Given the description of an element on the screen output the (x, y) to click on. 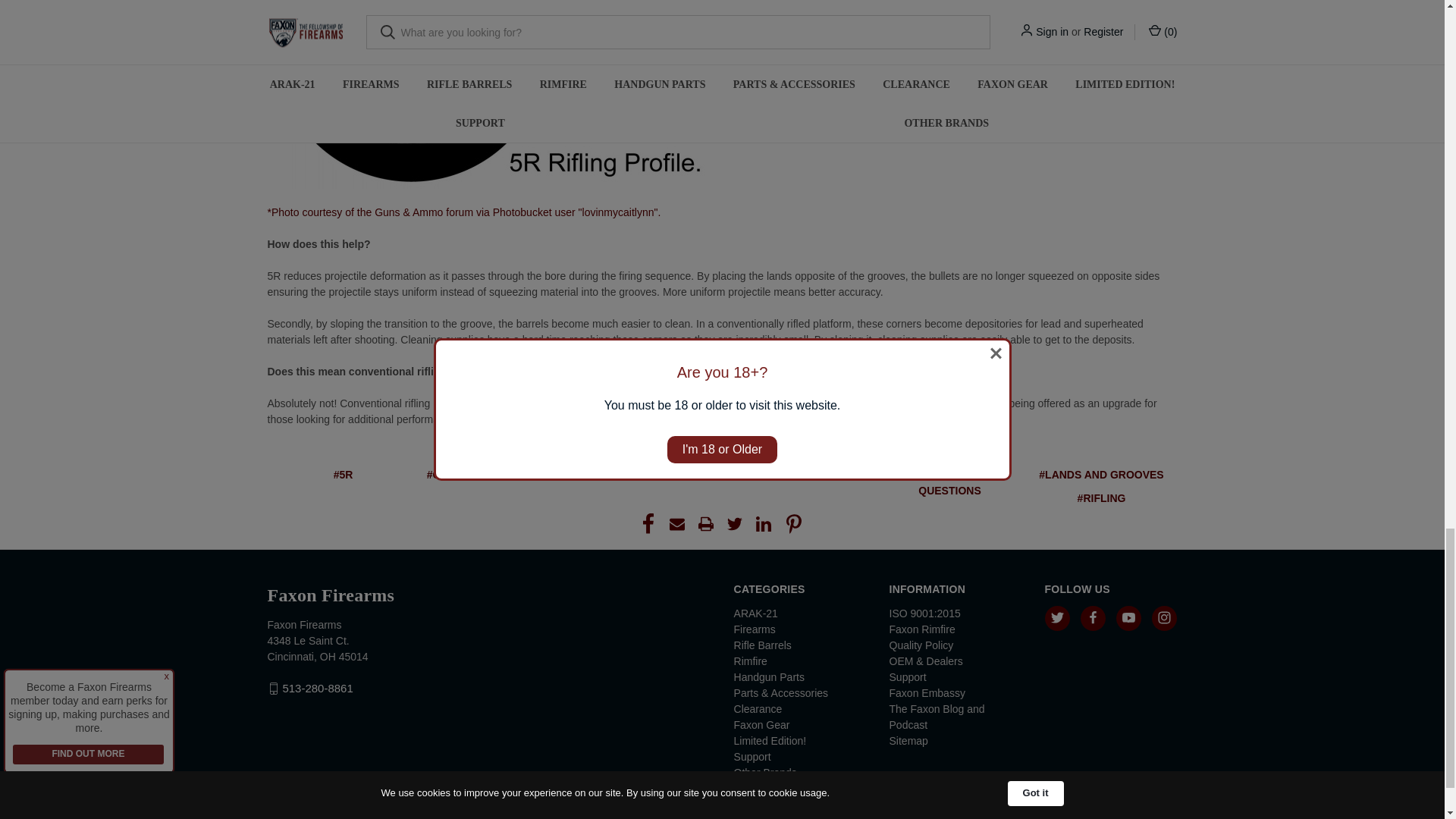
Pinterest (794, 523)
Facebook (648, 523)
Print (705, 523)
Linkedin (763, 523)
Email (676, 523)
Twitter (734, 523)
